Given the description of an element on the screen output the (x, y) to click on. 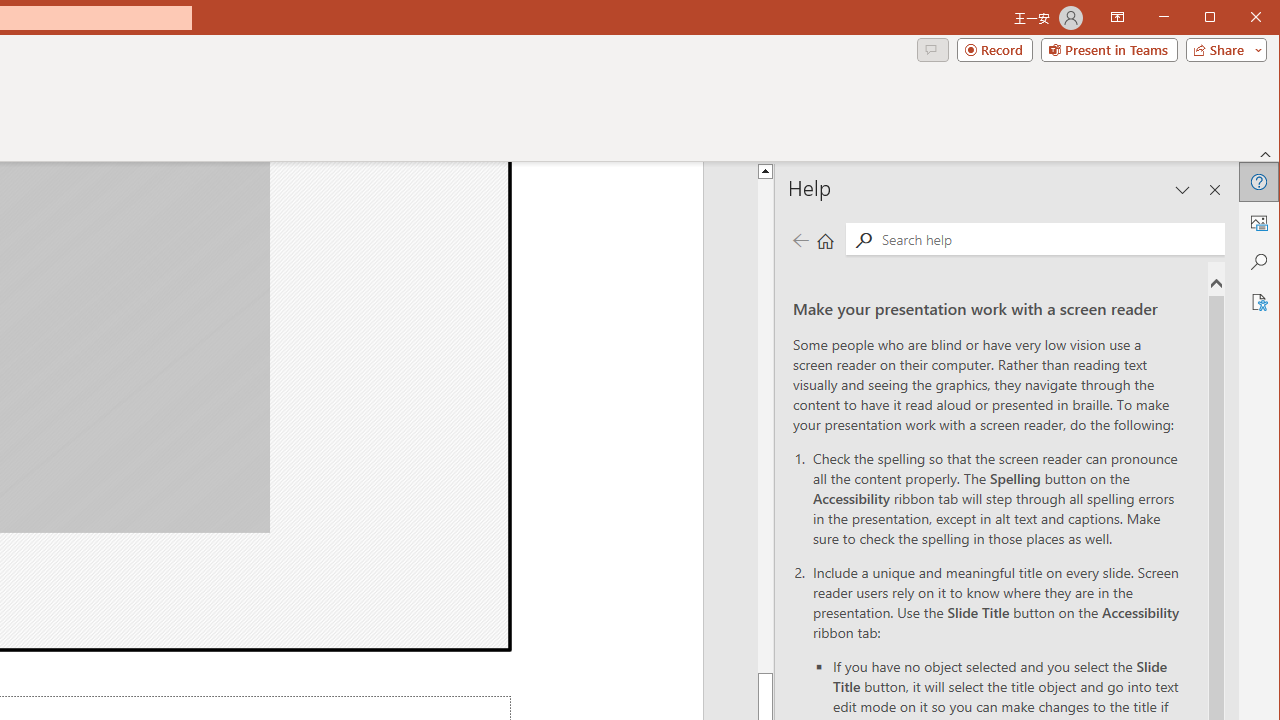
Previous page (800, 240)
